Given the description of an element on the screen output the (x, y) to click on. 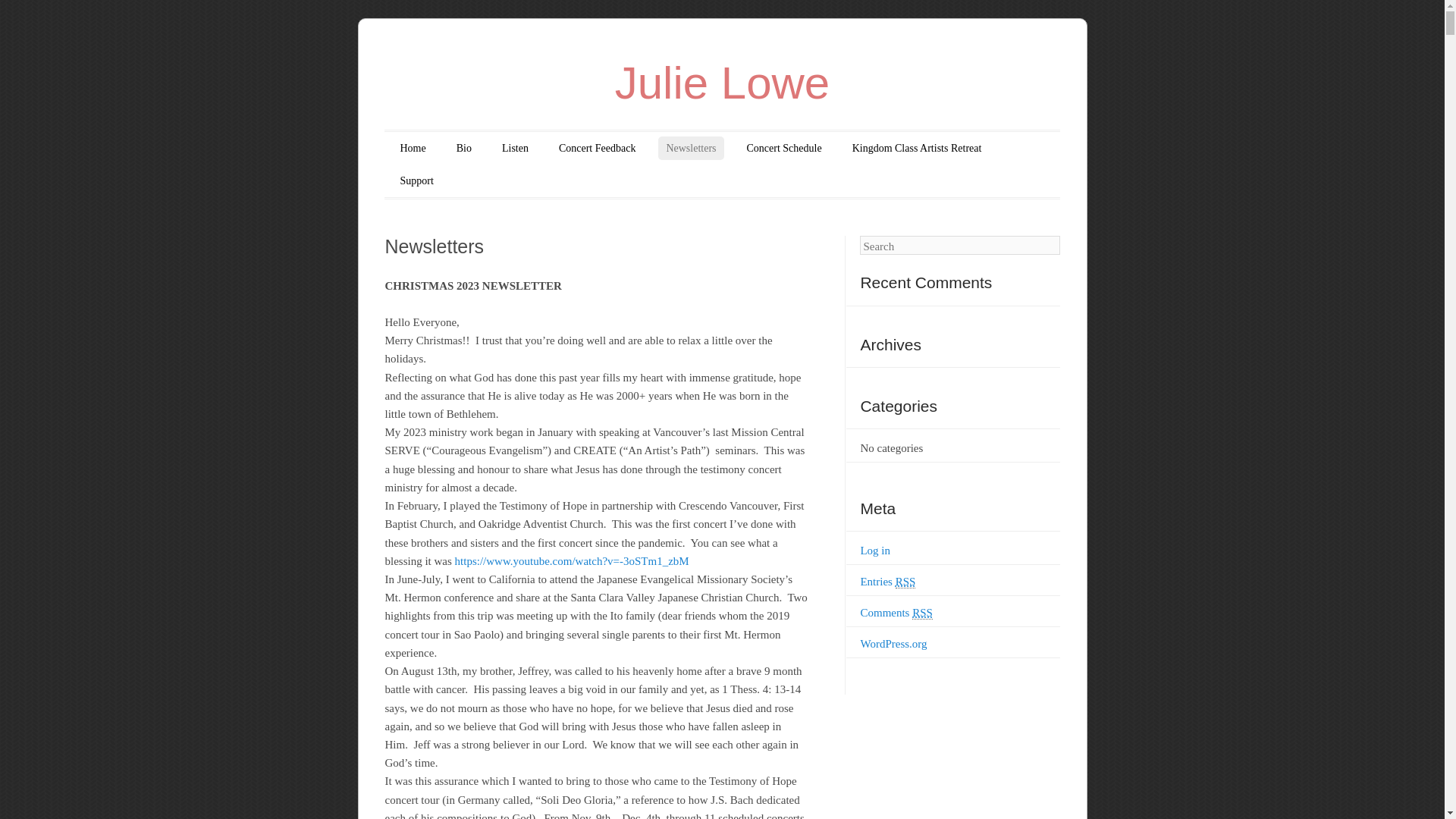
Really Simple Syndication (922, 612)
Support (416, 180)
Home (411, 147)
Listen (515, 147)
Skip to content (433, 147)
Log in (874, 550)
Really Simple Syndication (905, 581)
Concert Feedback (597, 147)
Kingdom Class Artists Retreat (917, 147)
Search (32, 13)
